Given the description of an element on the screen output the (x, y) to click on. 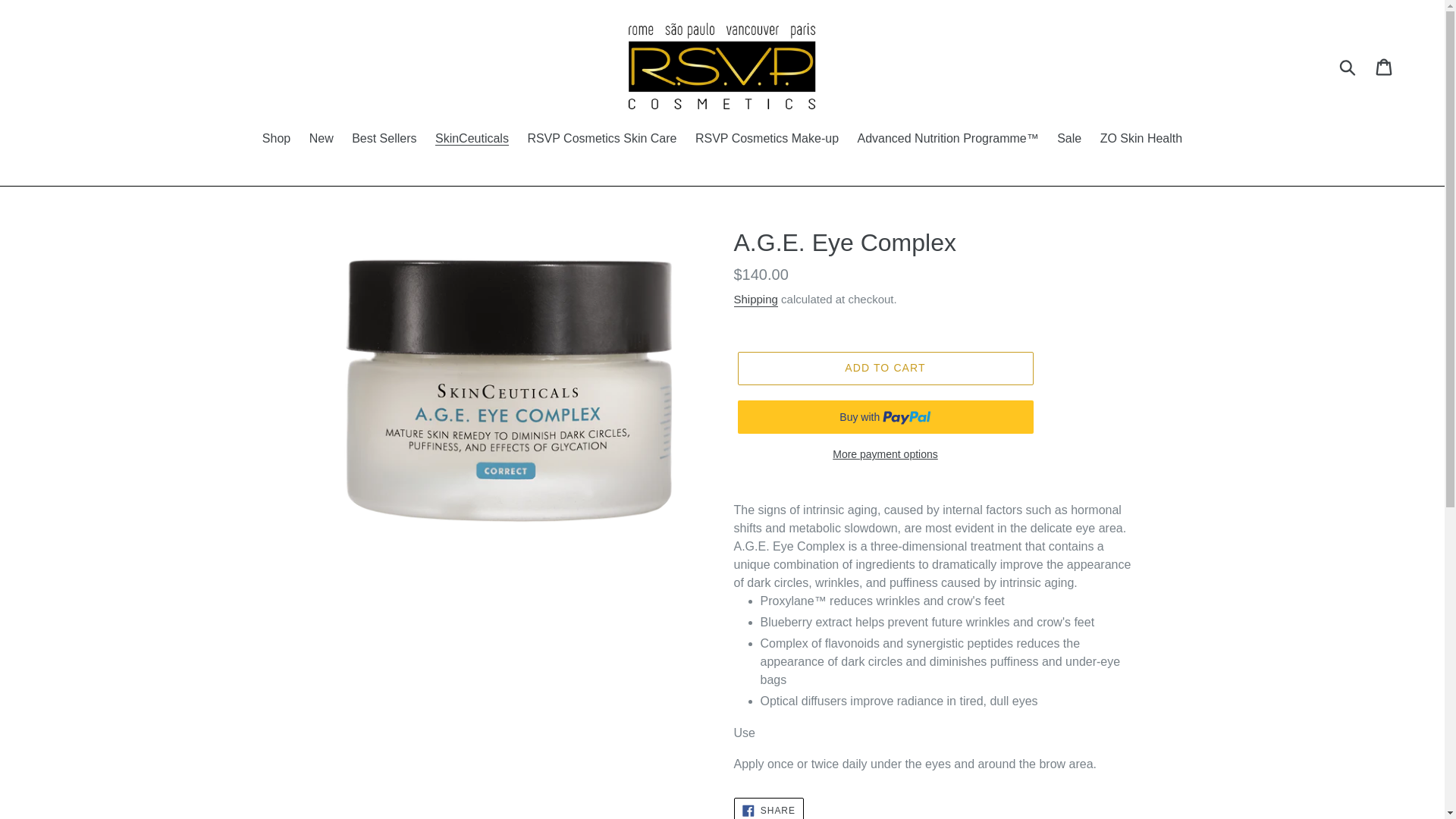
SkinCeuticals (472, 139)
Cart (1385, 66)
More payment options (884, 454)
RSVP Cosmetics Make-up (766, 139)
ZO Skin Health (1141, 139)
Shipping (755, 299)
Shop (276, 139)
ADD TO CART (884, 368)
RSVP Cosmetics Skin Care (601, 139)
Best Sellers (383, 139)
